Given the description of an element on the screen output the (x, y) to click on. 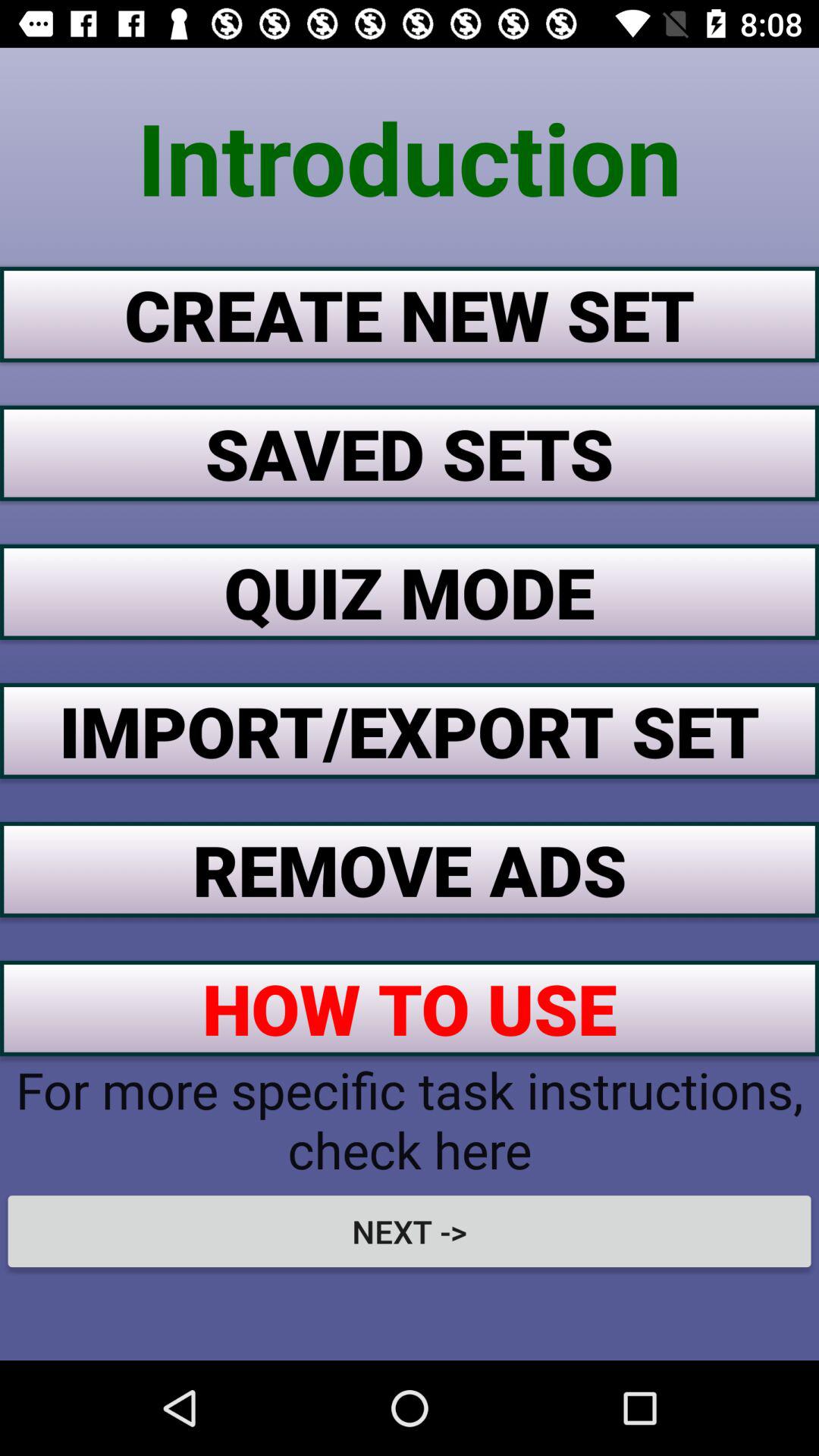
turn on icon below for more specific icon (409, 1231)
